Given the description of an element on the screen output the (x, y) to click on. 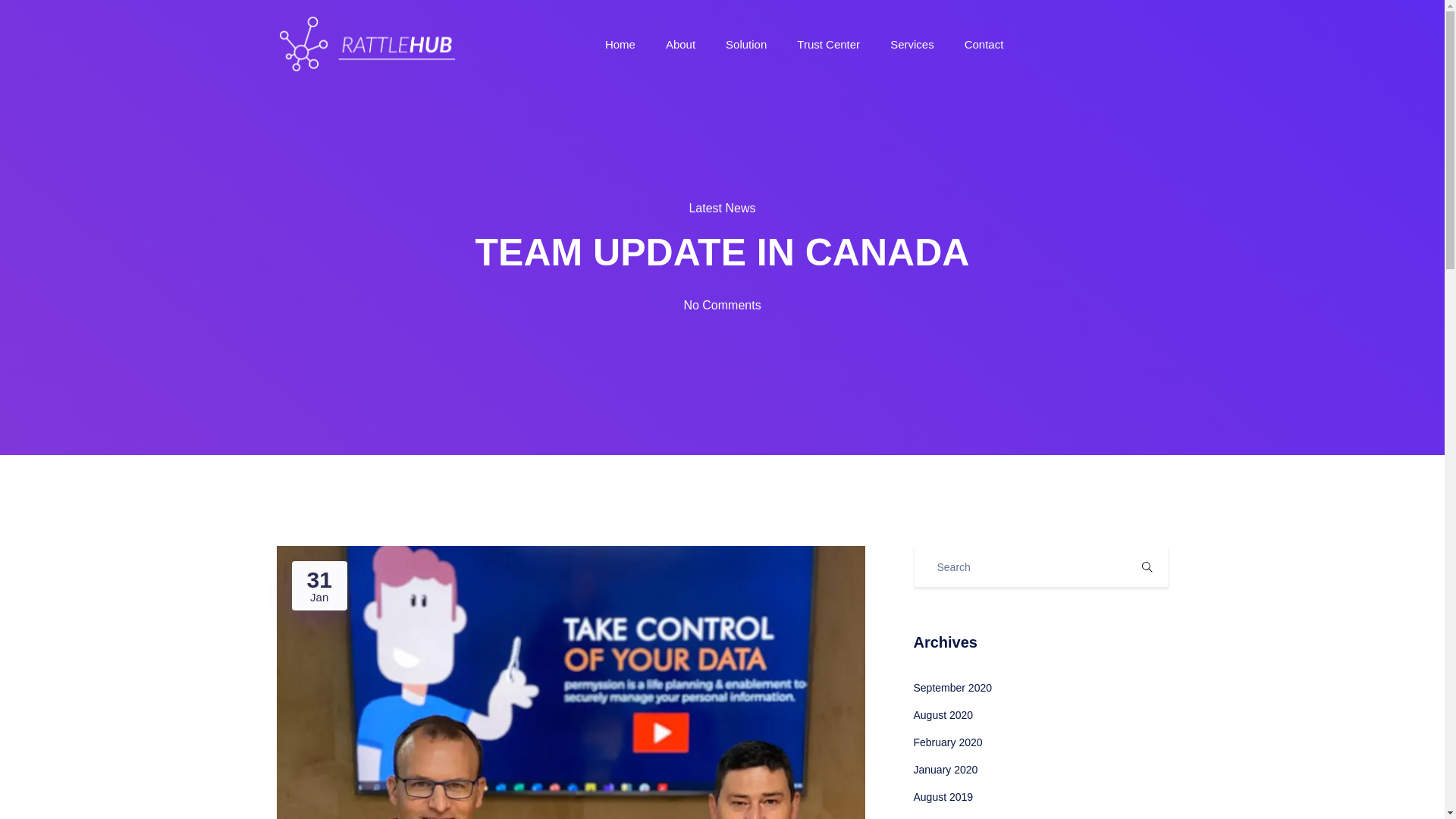
August 2019 (942, 797)
February 2020 (946, 742)
Latest News (721, 207)
Solution (746, 43)
Contact (983, 43)
January 2020 (944, 769)
March 2019 (940, 818)
About (680, 43)
Home (619, 43)
August 2020 (942, 715)
